Given the description of an element on the screen output the (x, y) to click on. 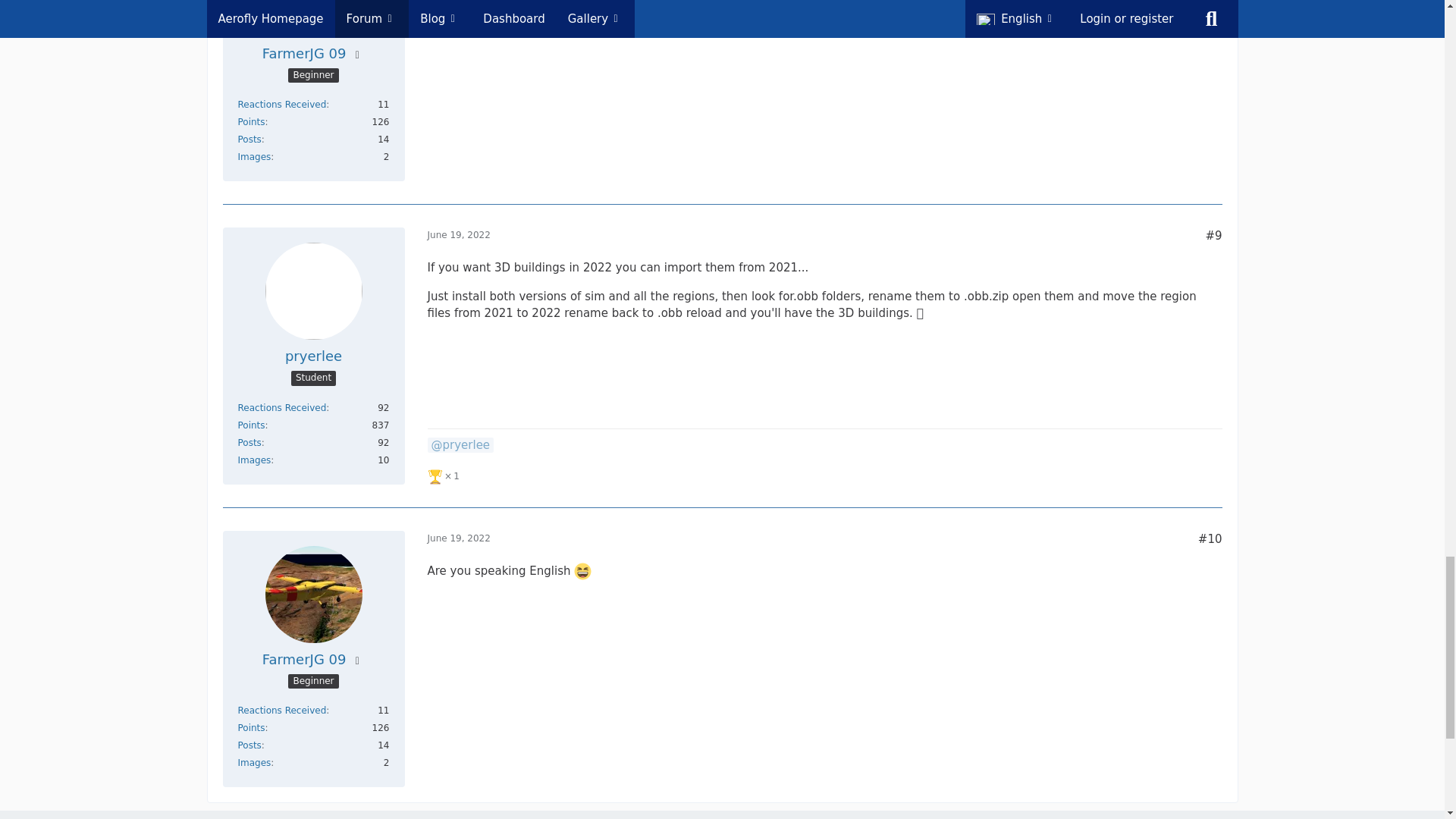
biggrin (582, 570)
